Given the description of an element on the screen output the (x, y) to click on. 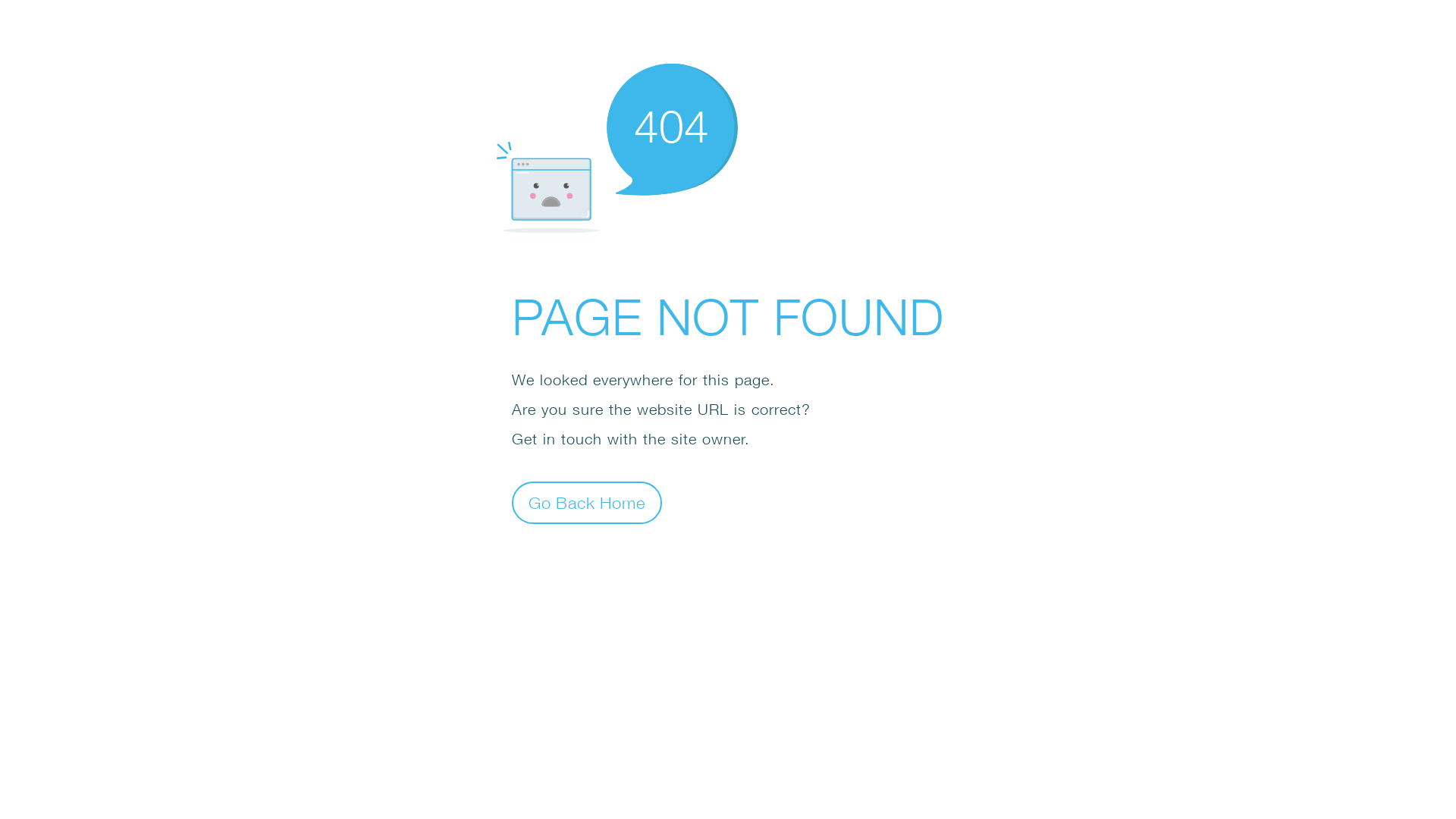
Go Back Home Element type: text (586, 502)
